Given the description of an element on the screen output the (x, y) to click on. 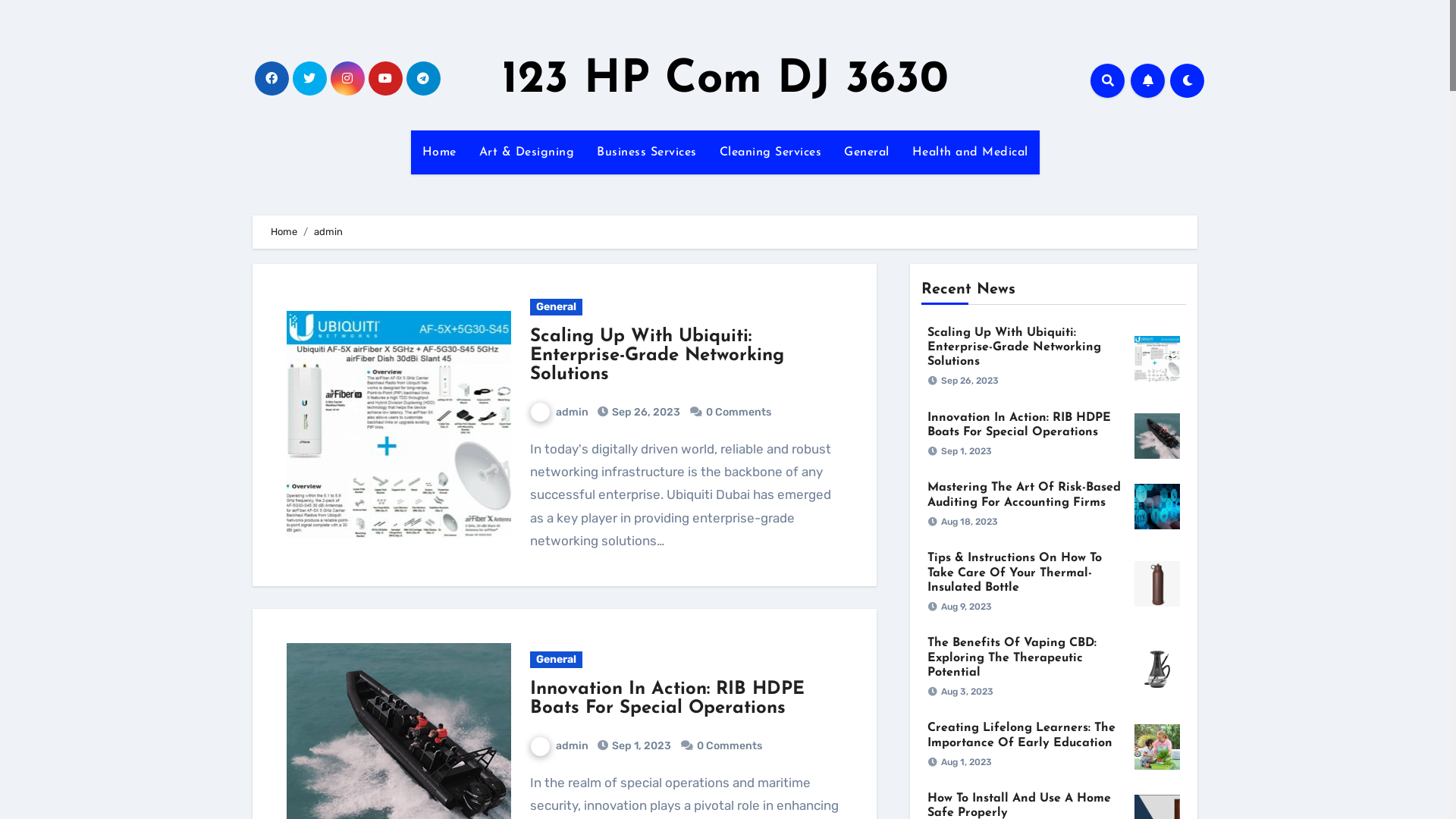
Innovation In Action: RIB HDPE Boats For Special Operations Element type: text (1018, 424)
Sep 26, 2023 Element type: text (969, 380)
Sep 1, 2023 Element type: text (966, 450)
0 Comments Element type: text (728, 745)
Sep 26, 2023 Element type: text (644, 411)
General Element type: text (555, 306)
Cleaning Services Element type: text (770, 152)
Aug 9, 2023 Element type: text (966, 606)
admin Element type: text (558, 411)
General Element type: text (555, 659)
Aug 1, 2023 Element type: text (966, 761)
Business Services Element type: text (646, 152)
Home Element type: text (283, 231)
Home Element type: text (439, 152)
Health and Medical Element type: text (969, 152)
Art & Designing Element type: text (526, 152)
0 Comments Element type: text (737, 411)
Aug 18, 2023 Element type: text (969, 521)
123 HP Com DJ 3630 Element type: text (725, 80)
General Element type: text (866, 152)
admin Element type: text (558, 745)
Aug 3, 2023 Element type: text (967, 691)
Sep 1, 2023 Element type: text (640, 745)
Innovation In Action: RIB HDPE Boats For Special Operations Element type: text (666, 698)
